Given the description of an element on the screen output the (x, y) to click on. 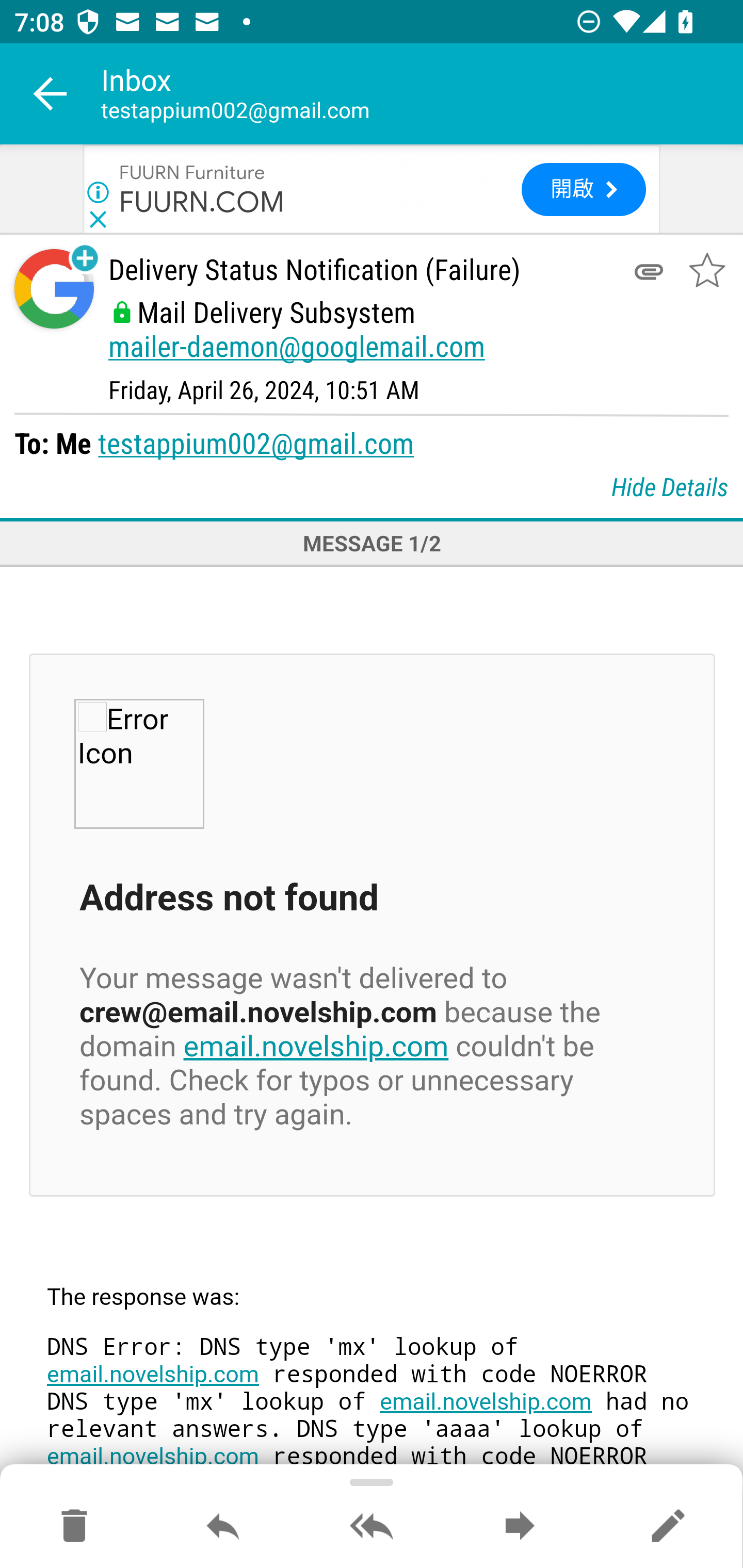
Navigate up (50, 93)
Inbox testappium002@gmail.com (422, 93)
FUURN Furniture (192, 171)
開啟 (583, 189)
FUURN.COM (202, 200)
Sender contact button (53, 289)
email.novelship.com (315, 1046)
email.novelship.com (153, 1374)
email.novelship.com (485, 1401)
email.novelship.com (153, 1456)
Move to Deleted (74, 1527)
Reply (222, 1527)
Reply all (371, 1527)
Forward (519, 1527)
Reply as new (667, 1527)
